Given the description of an element on the screen output the (x, y) to click on. 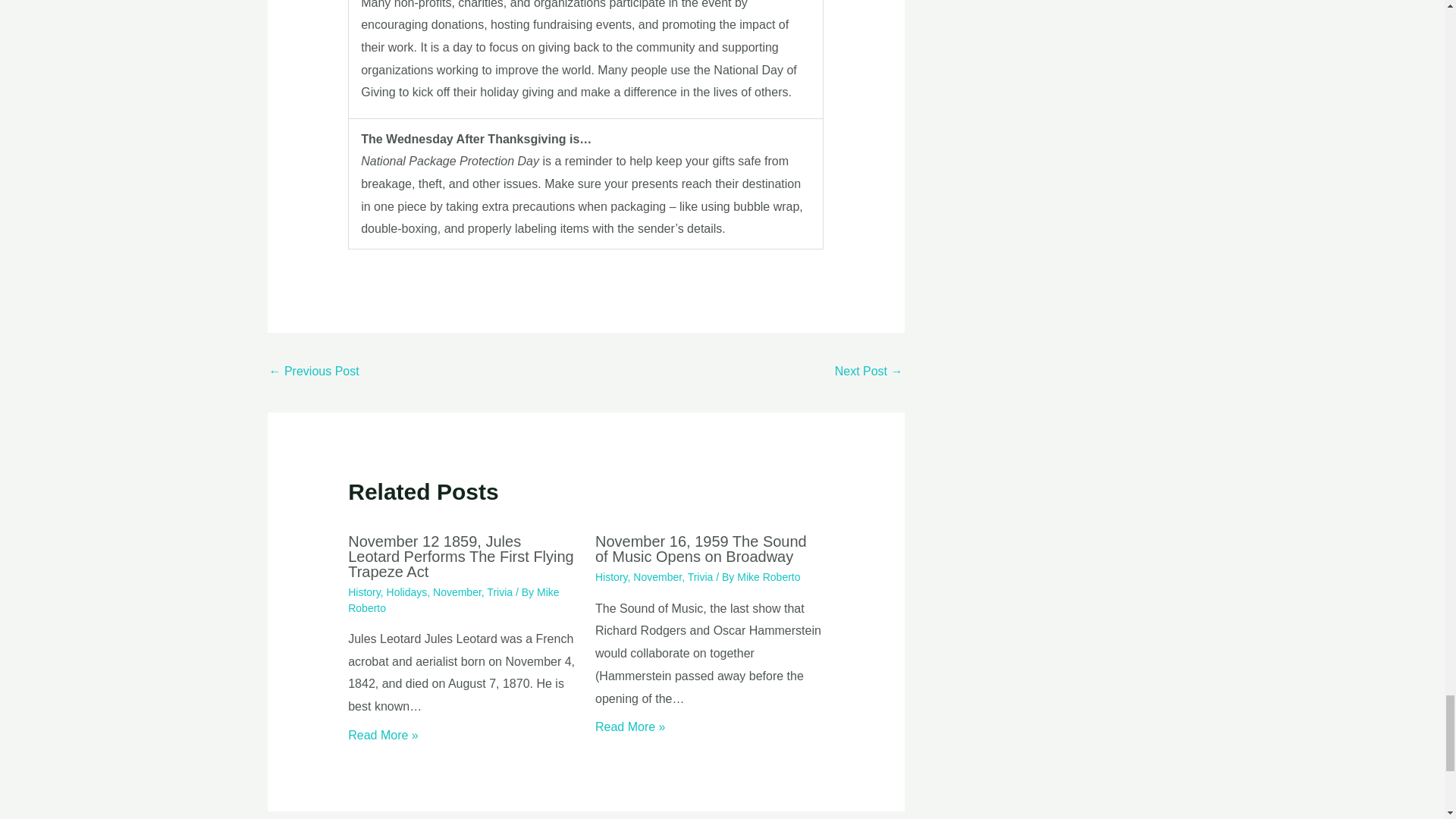
View all posts by Mike Roberto (767, 576)
View all posts by Mike Roberto (453, 599)
History (363, 592)
November 1 in History (868, 372)
